Given the description of an element on the screen output the (x, y) to click on. 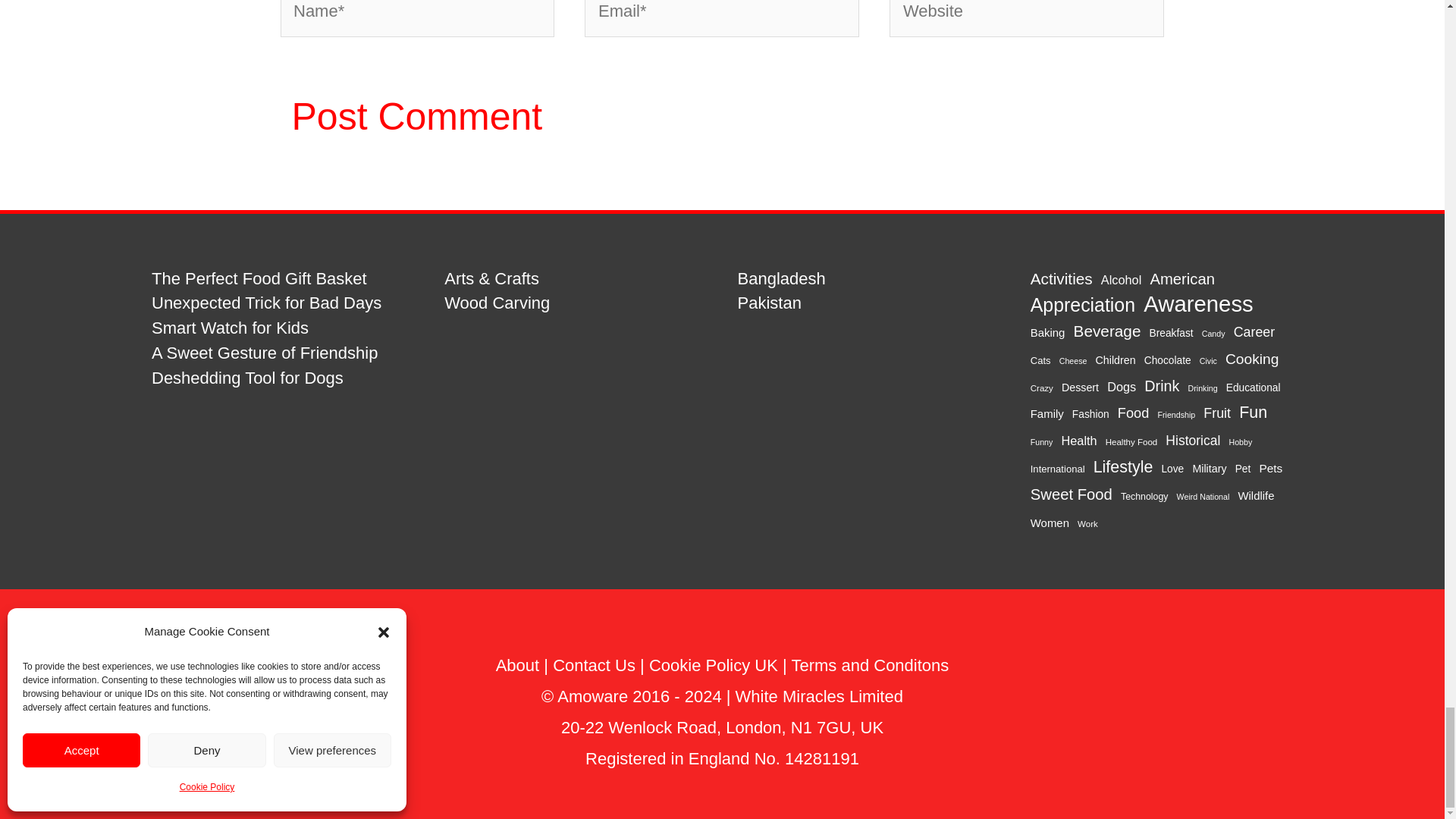
Post Comment (417, 116)
